Given the description of an element on the screen output the (x, y) to click on. 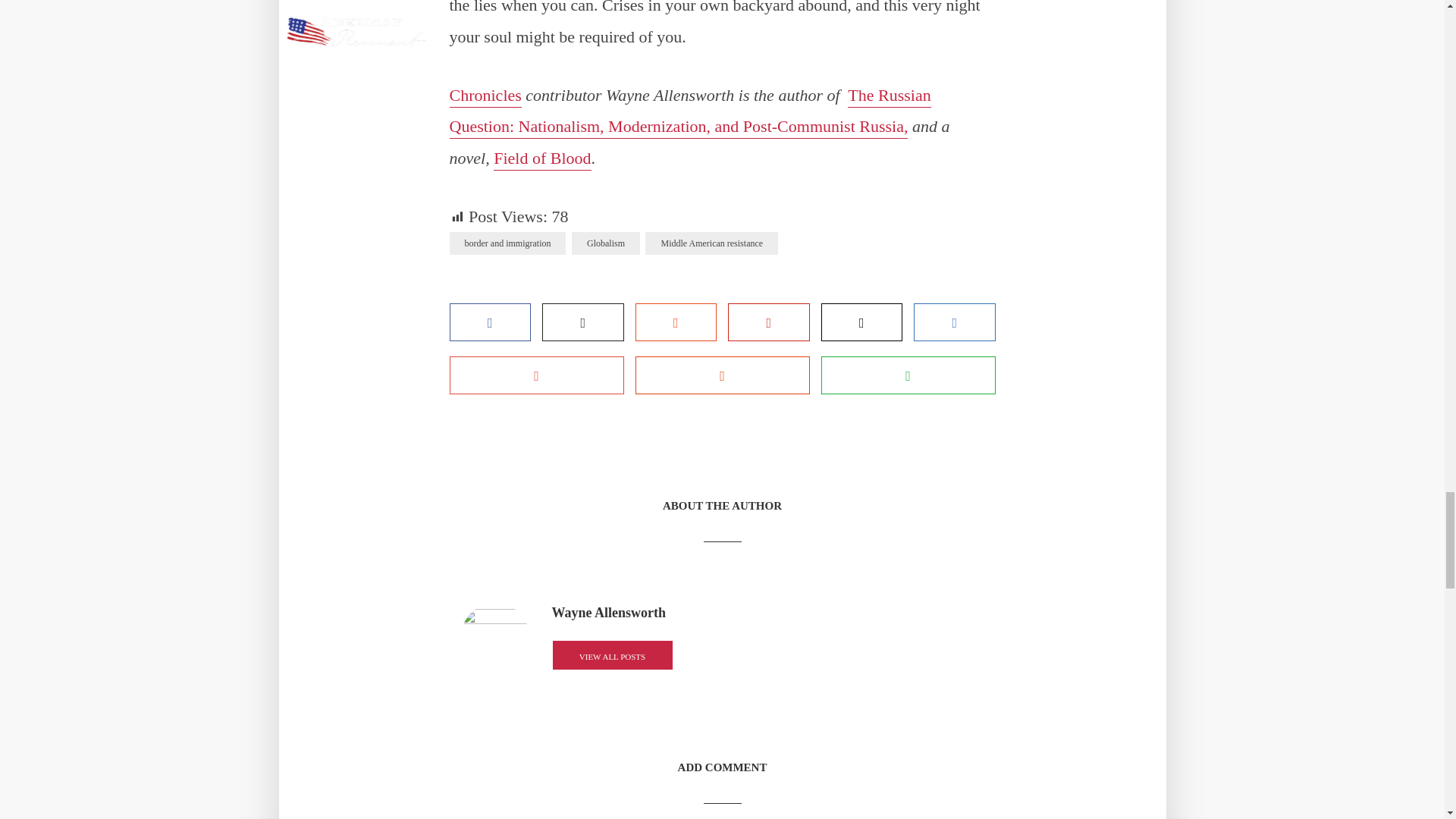
VIEW ALL POSTS (611, 654)
Middle American resistance (711, 242)
border and immigration (507, 242)
Globalism (606, 242)
Field of Blood (542, 159)
Chronicles (484, 96)
